Given the description of an element on the screen output the (x, y) to click on. 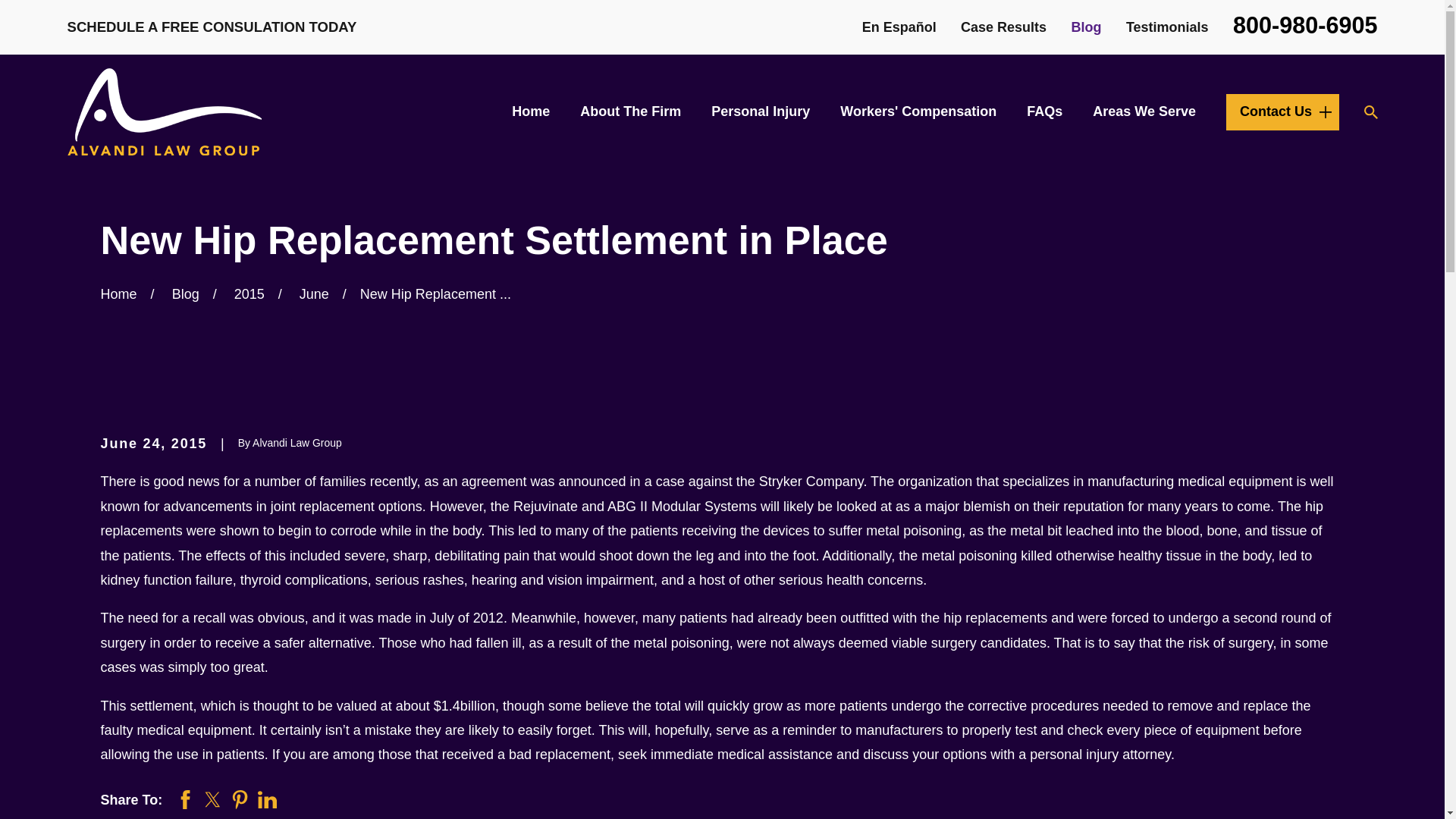
Go Home (118, 294)
Blog (1085, 27)
Workers' Compensation (917, 111)
Home (163, 111)
800-980-6905 (1305, 24)
Personal Injury (760, 111)
Testimonials (1166, 27)
About The Firm (630, 111)
Case Results (1003, 27)
